Given the description of an element on the screen output the (x, y) to click on. 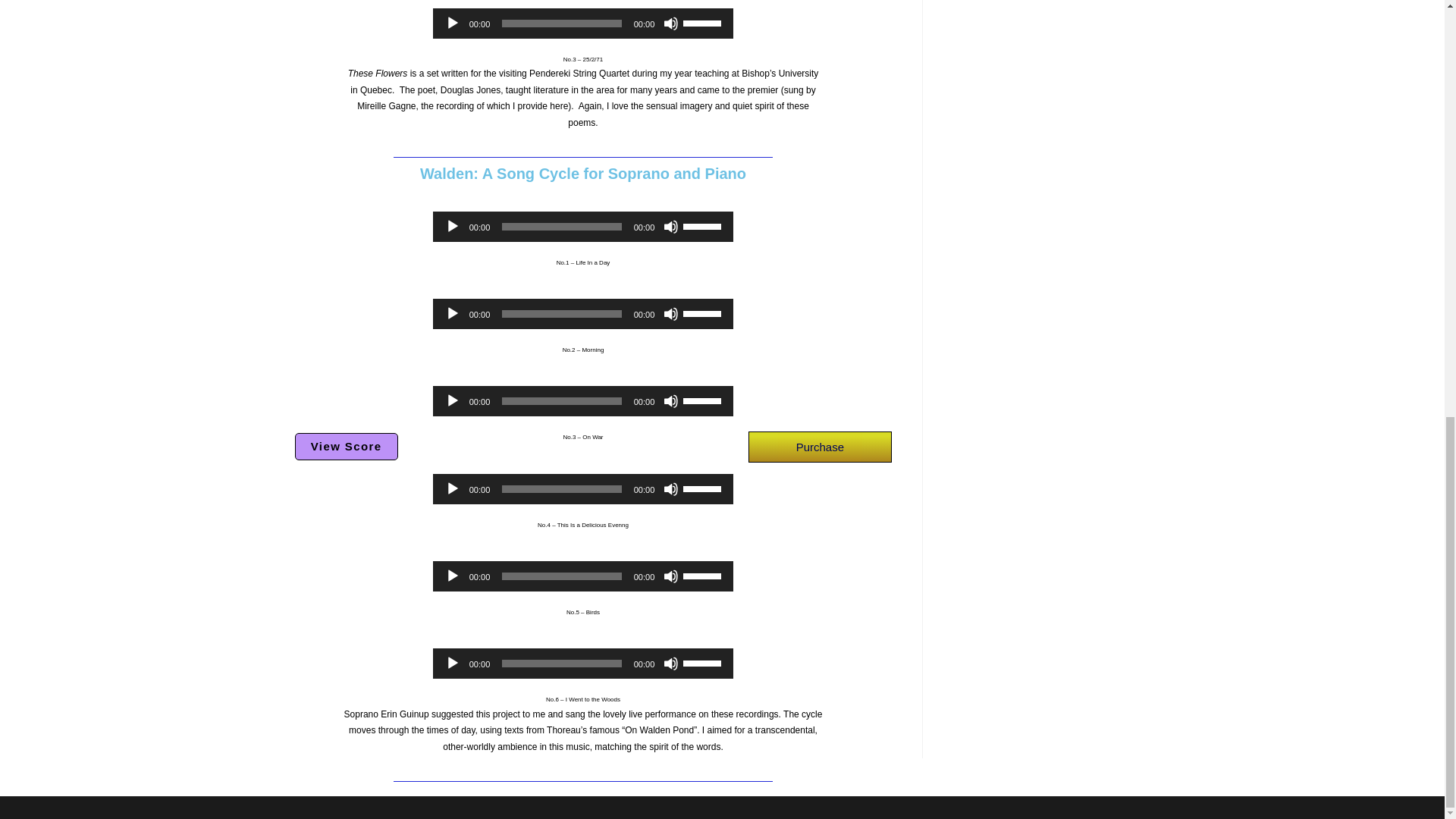
Mute (670, 400)
Mute (670, 313)
Play (452, 23)
Play (452, 226)
Mute (670, 23)
Play (452, 488)
Play (452, 313)
Play (452, 400)
Mute (670, 226)
